Given the description of an element on the screen output the (x, y) to click on. 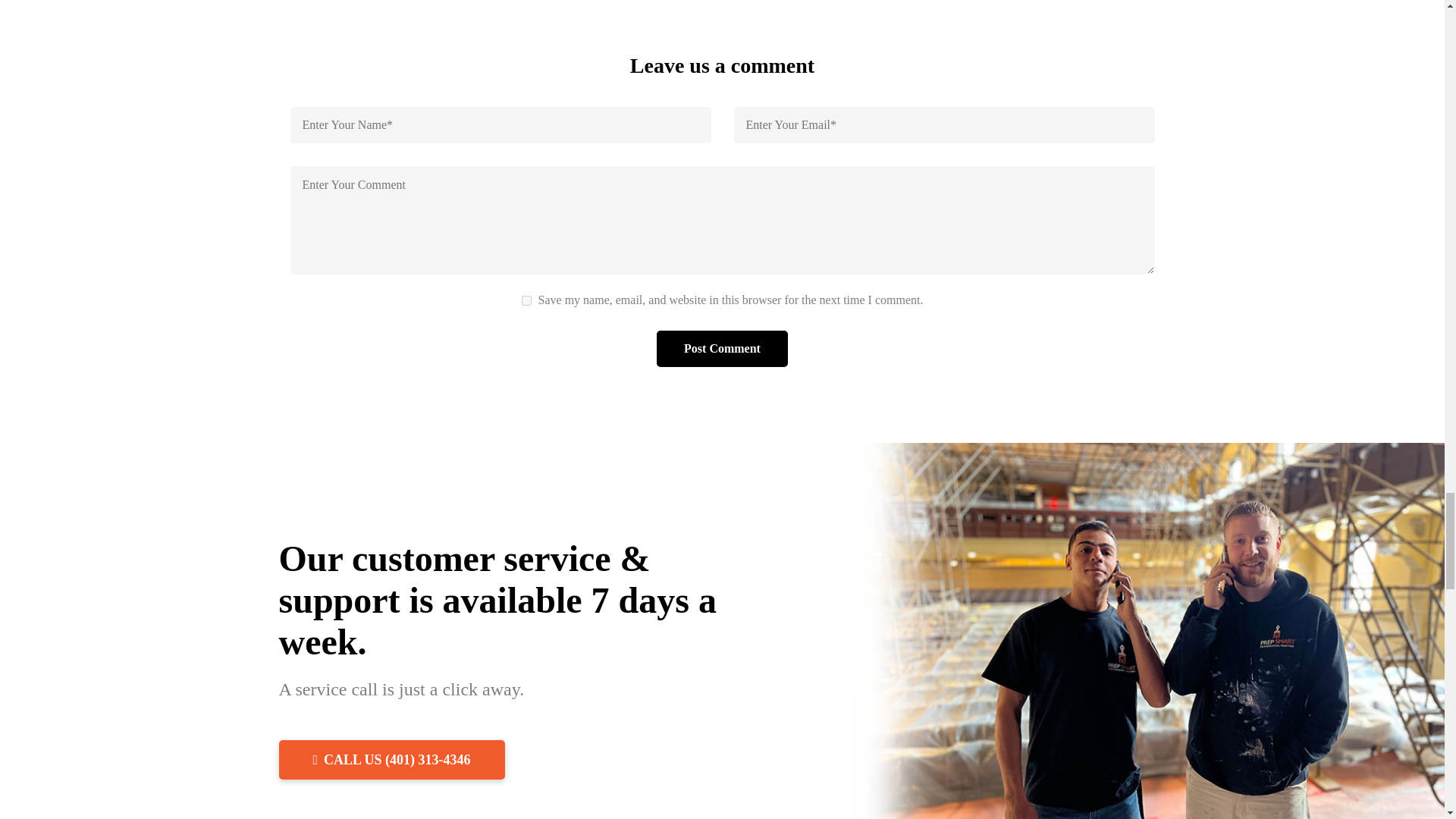
yes (526, 300)
Post Comment (721, 348)
